Given the description of an element on the screen output the (x, y) to click on. 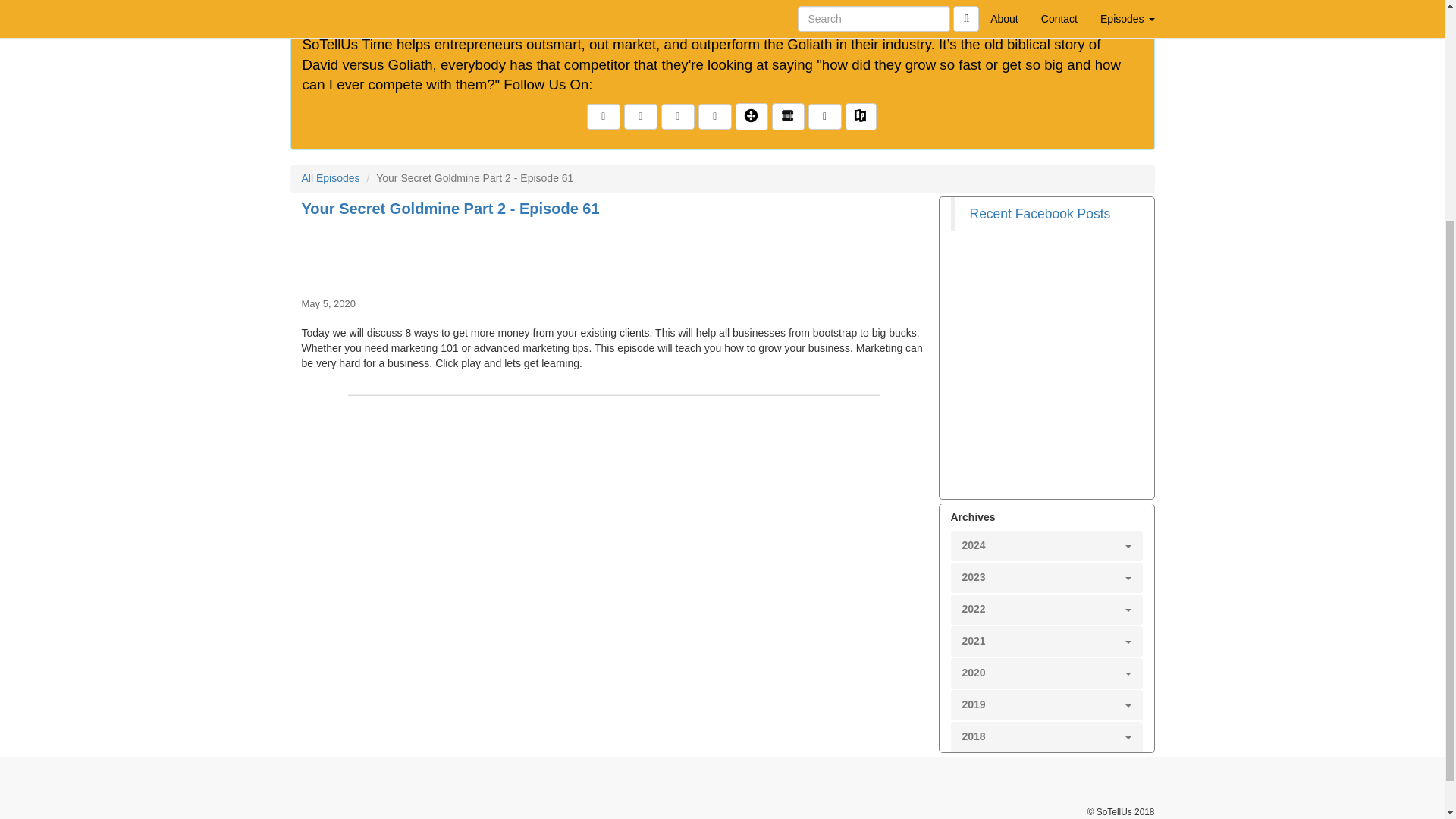
Listen on Spotify (824, 116)
Email This Podcast (641, 116)
Listen on Radio Public (861, 116)
Visit Us on Facebook (603, 116)
Listen on Stitcher (788, 116)
Listen on TuneIn (751, 116)
Subscribe to RSS Feed (677, 116)
Your Secret Goldmine Part 2 - Episode 61 (614, 254)
Listen on Apple Podcasts (715, 116)
